Given the description of an element on the screen output the (x, y) to click on. 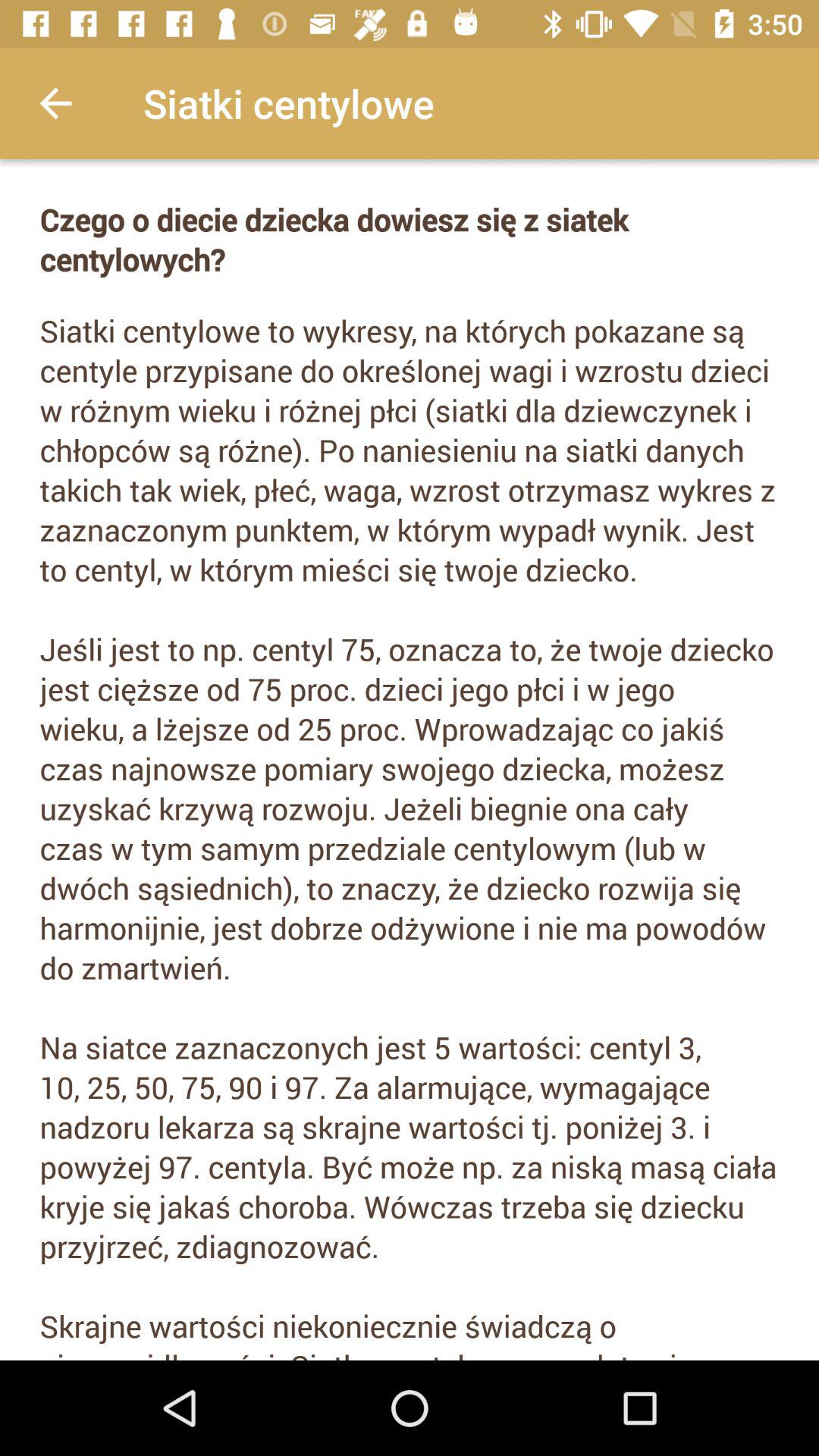
select the app to the left of the siatki centylowe app (55, 103)
